Given the description of an element on the screen output the (x, y) to click on. 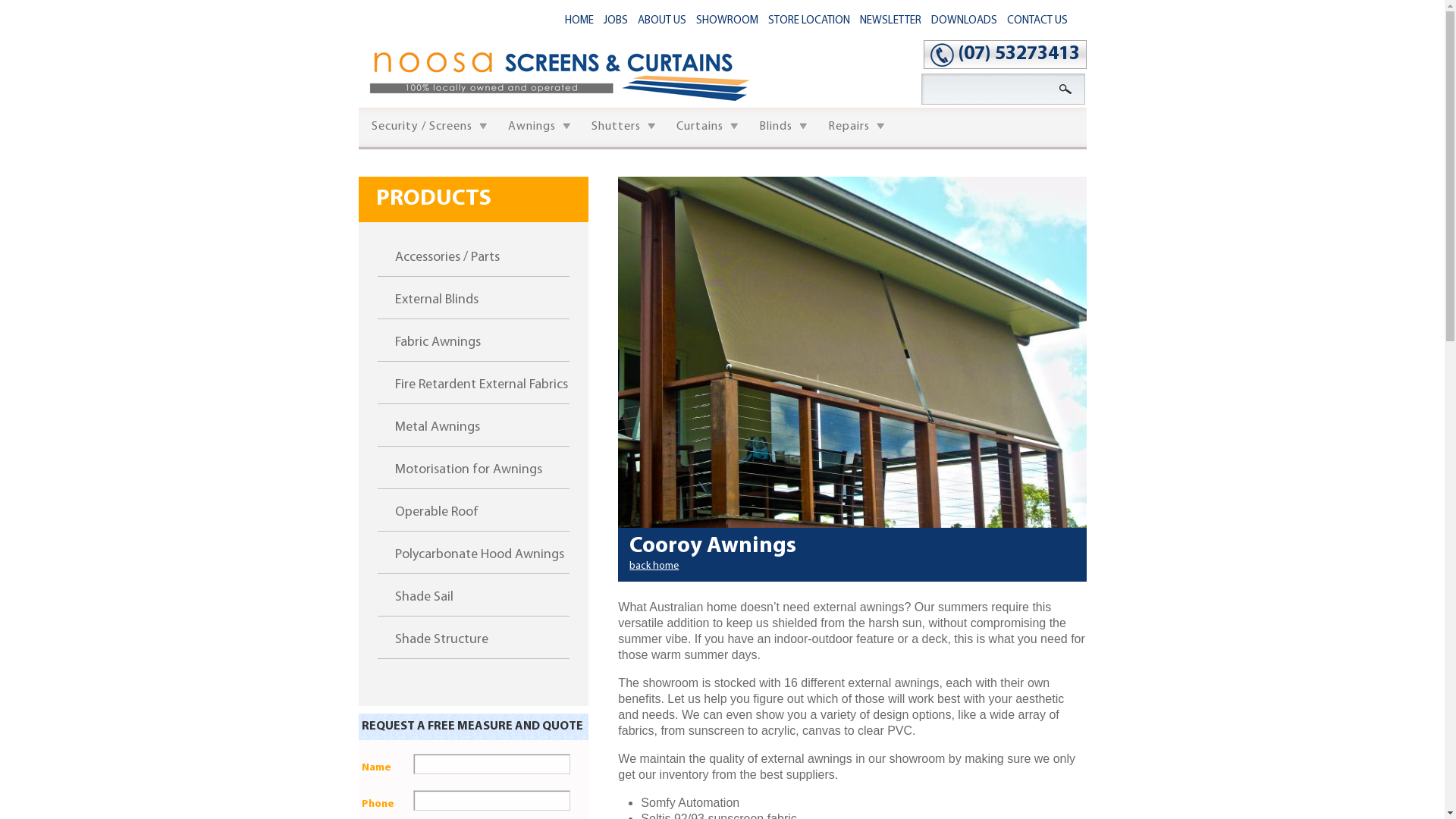
Accessories / Parts Element type: text (473, 252)
ABOUT US Element type: text (661, 20)
HOME Element type: text (578, 20)
Operable Roof Element type: text (473, 507)
Fire Retardent External Fabrics Element type: text (473, 380)
Security / Screens Element type: text (425, 126)
Shade Structure Element type: text (473, 635)
Metal Awnings Element type: text (473, 422)
Blinds Element type: text (780, 126)
STORE LOCATION Element type: text (809, 20)
Repairs Element type: text (852, 126)
Curtains Element type: text (703, 126)
Shade Sail Element type: text (473, 592)
(07) 53273413 Element type: text (1018, 53)
Awnings Element type: text (535, 126)
JOBS Element type: text (615, 20)
Home Element type: hover (591, 103)
Polycarbonate Hood Awnings Element type: text (473, 550)
Awnings In Cooroy Element type: hover (851, 351)
CONTACT US Element type: text (1037, 20)
NEWSLETTER Element type: text (890, 20)
Apply Element type: text (1065, 89)
External Blinds Element type: text (473, 295)
SHOWROOM Element type: text (727, 20)
Shutters Element type: text (619, 126)
back home Element type: text (653, 565)
Motorisation for Awnings Element type: text (473, 465)
Fabric Awnings Element type: text (473, 337)
DOWNLOADS Element type: text (964, 20)
